Given the description of an element on the screen output the (x, y) to click on. 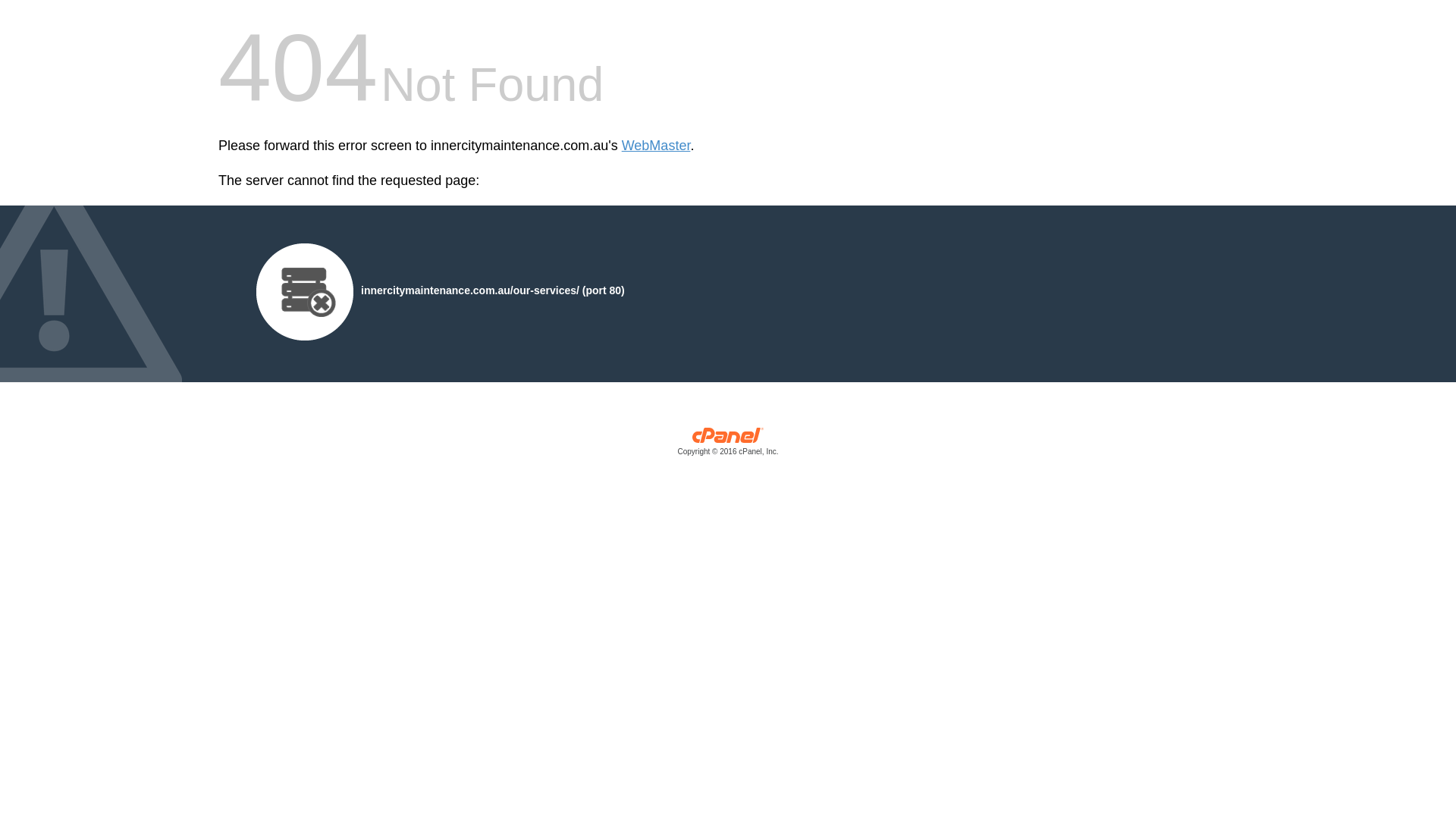
WebMaster Element type: text (655, 145)
